Given the description of an element on the screen output the (x, y) to click on. 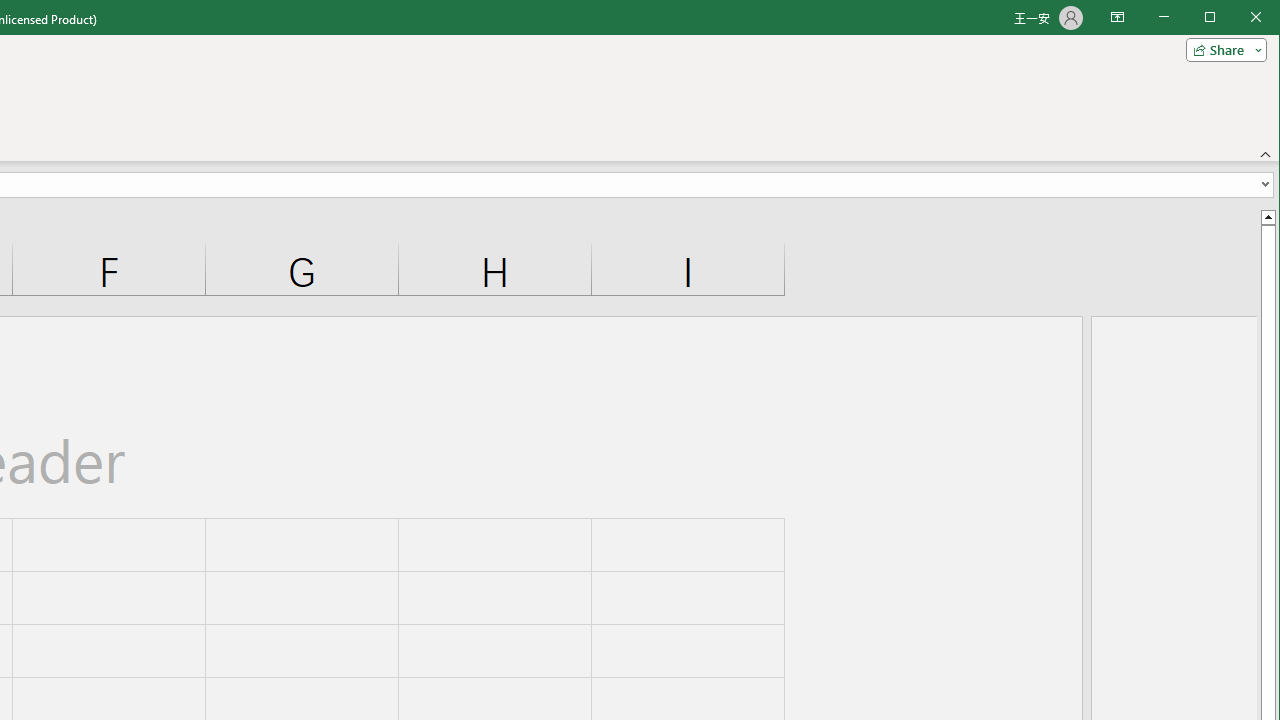
Maximize (1238, 18)
